Given the description of an element on the screen output the (x, y) to click on. 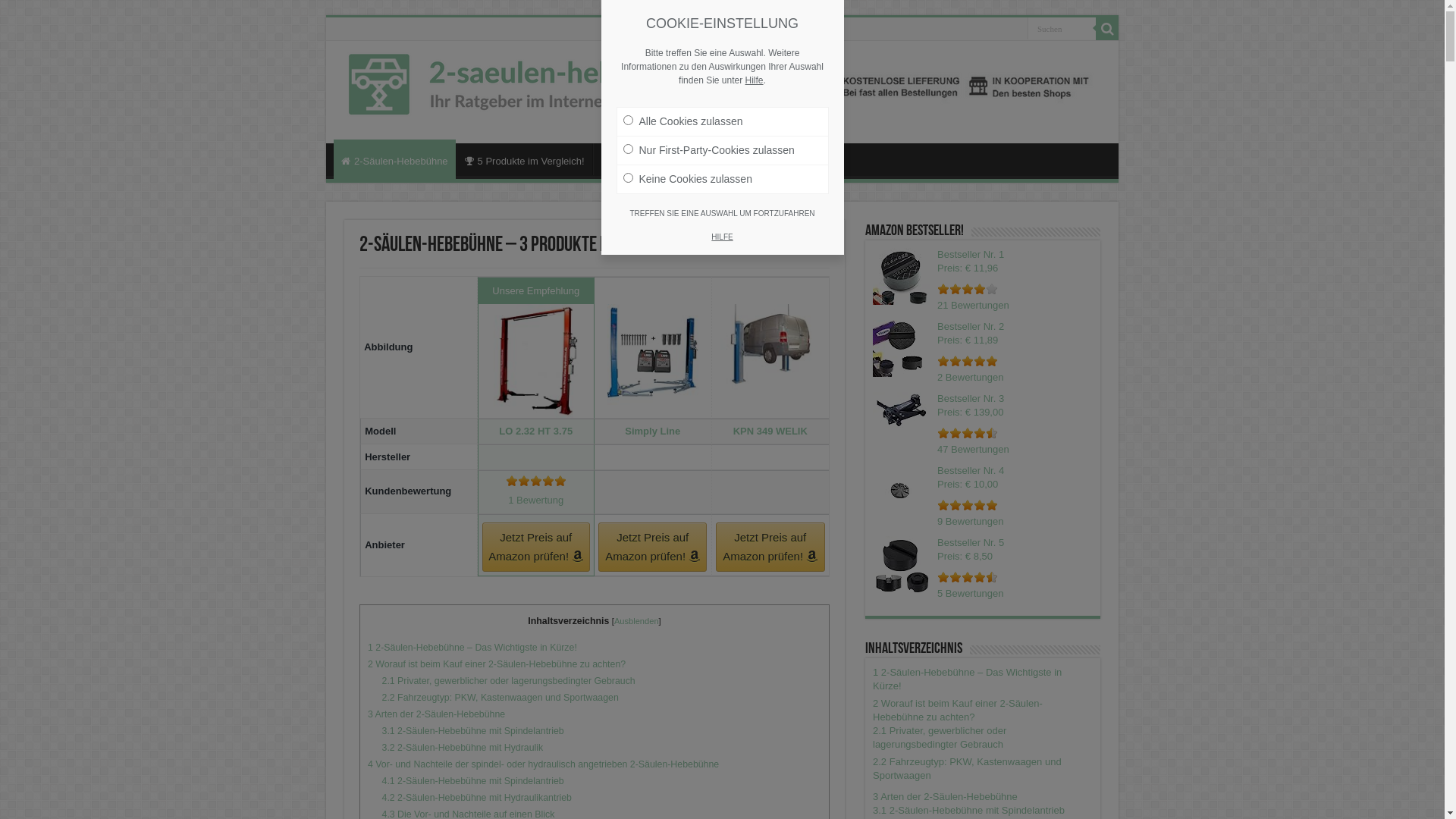
9 Bewertungen Element type: text (970, 521)
5.0 von 5 Sternen Element type: hover (967, 360)
21 Bewertungen Element type: text (973, 304)
2.2 Fahrzeugtyp: PKW, Kastenwaagen und Sportwaagen Element type: text (500, 697)
47 Bewertungen Element type: text (973, 449)
1 Bewertung Element type: text (535, 499)
KPN 349 WELIK Element type: text (770, 430)
2.2 Fahrzeugtyp: PKW, Kastenwaagen und Sportwaagen Element type: text (966, 768)
Simply Line Element type: text (652, 430)
2-saeulen-hebebuehne.com Element type: hover (722, 91)
Ausblenden Element type: text (636, 620)
5.0 von 5 Sternen Element type: hover (967, 504)
5 Produkte im Vergleich! Element type: text (524, 159)
LO 2.32 HT 3.75 Element type: text (535, 430)
Suchen Element type: hover (1061, 28)
4.4 von 5 Sternen Element type: hover (967, 577)
2 Bewertungen Element type: text (970, 376)
4.2 von 5 Sternen Element type: hover (967, 288)
4.4 von 5 Sternen Element type: hover (967, 432)
5.0 von 5 Sternen Element type: hover (535, 480)
2.1 Privater, gewerblicher oder lagerungsbedingter Gebrauch Element type: text (508, 680)
5 Bewertungen Element type: text (970, 593)
Suchen Element type: text (1106, 28)
2.1 Privater, gewerblicher oder lagerungsbedingter Gebrauch Element type: text (939, 736)
